Given the description of an element on the screen output the (x, y) to click on. 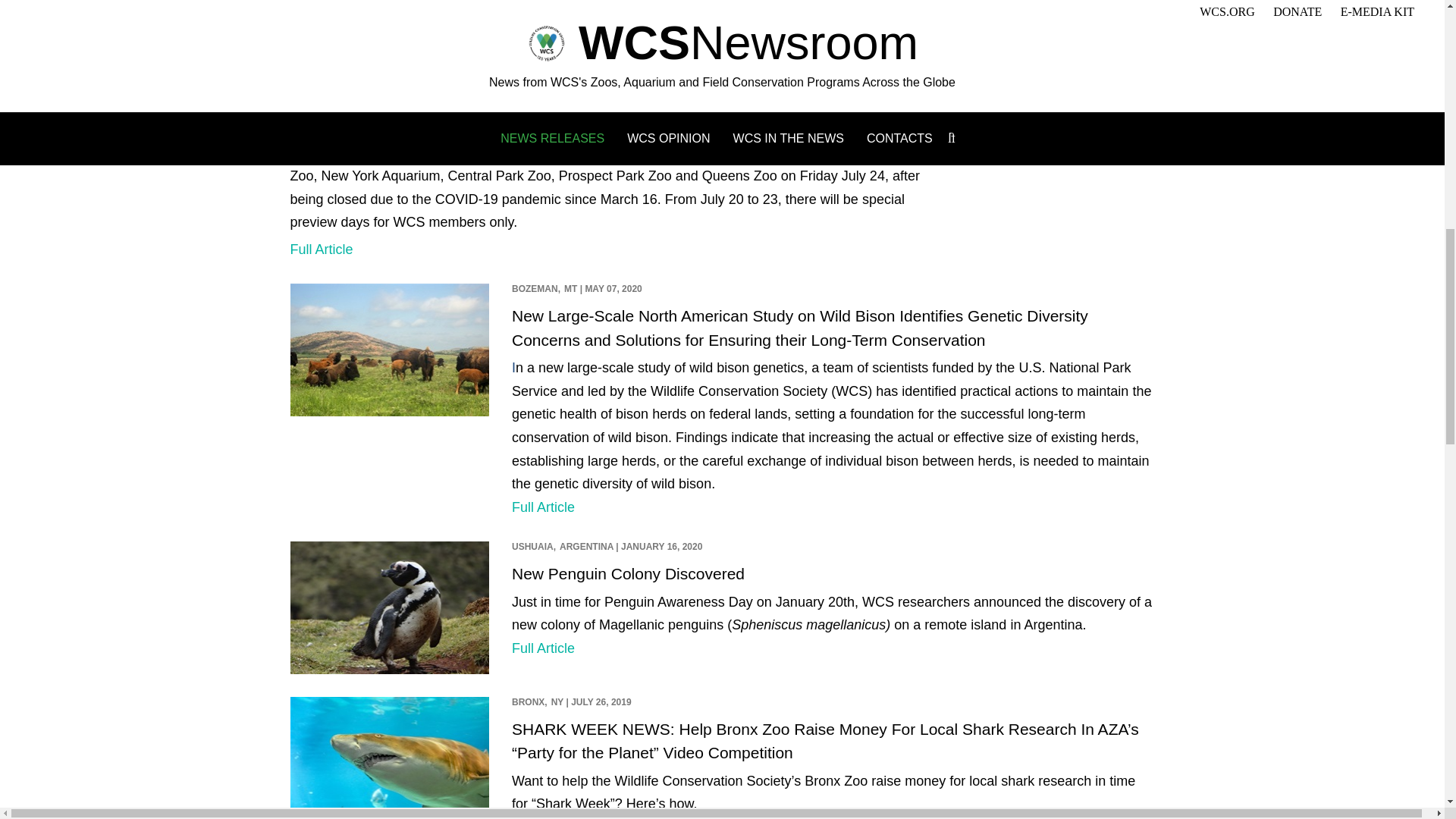
New Penguin Colony Discovered (628, 573)
Full Article (543, 507)
Full Article (320, 249)
Full Article (543, 648)
Full Article (543, 54)
